Given the description of an element on the screen output the (x, y) to click on. 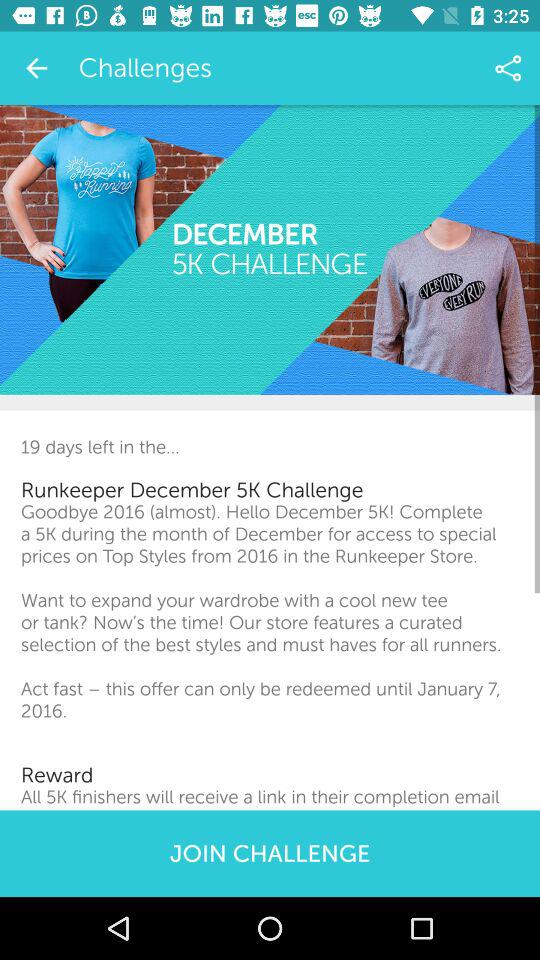
choose the item to the right of the challenges app (508, 67)
